Given the description of an element on the screen output the (x, y) to click on. 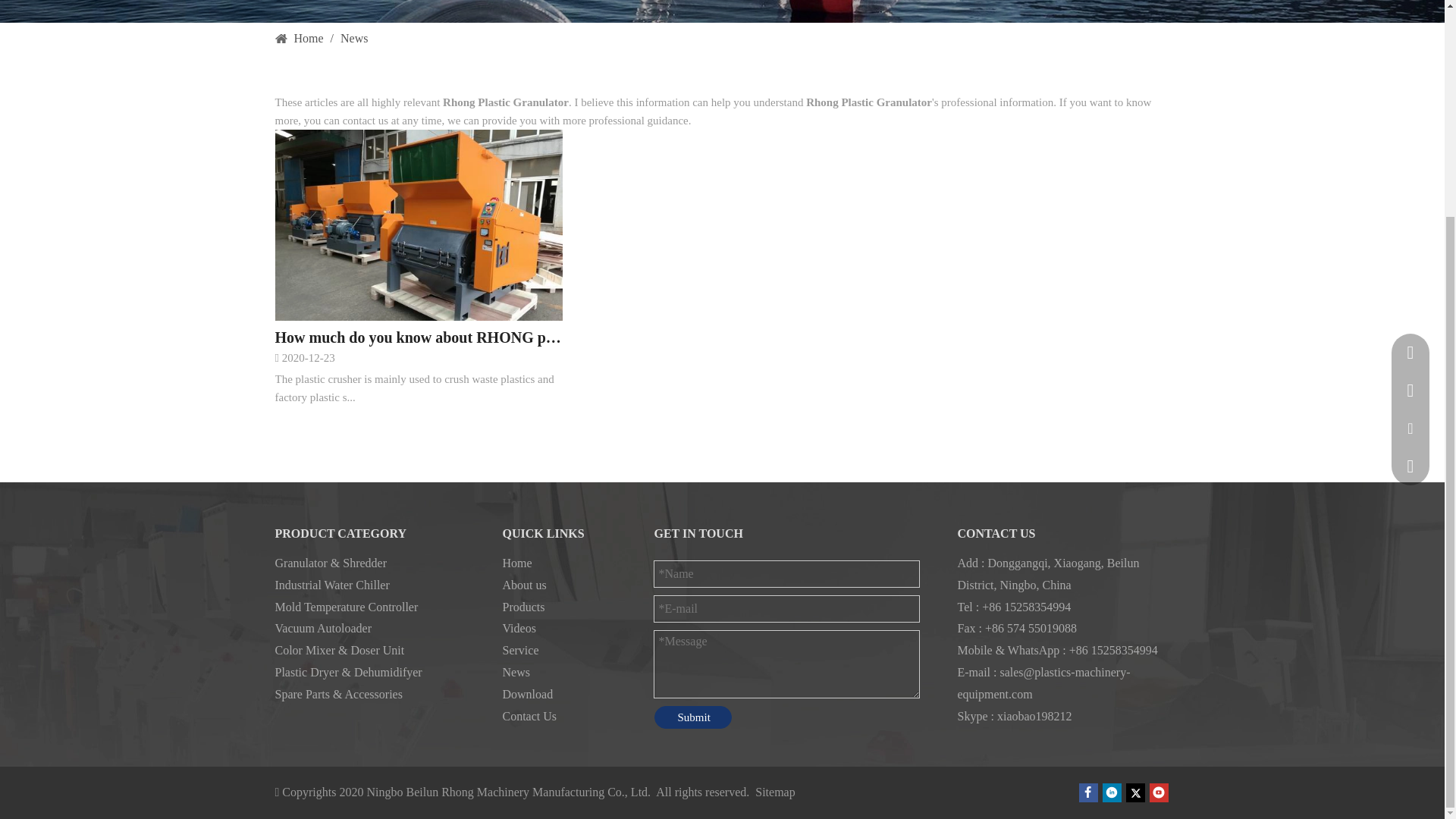
About us (524, 584)
How much do you know about RHONG plastic crushers? (418, 336)
Linkedin (1111, 792)
Download (527, 694)
News (515, 671)
How much do you know about RHONG plastic crushers? (418, 336)
Videos (518, 627)
Vacuum Autoloader (323, 627)
Facebook (1087, 792)
About us (524, 584)
Contact Us (529, 716)
Industrial Water Chiller (331, 584)
Products (523, 606)
Vacuum Autoloader (323, 627)
